Given the description of an element on the screen output the (x, y) to click on. 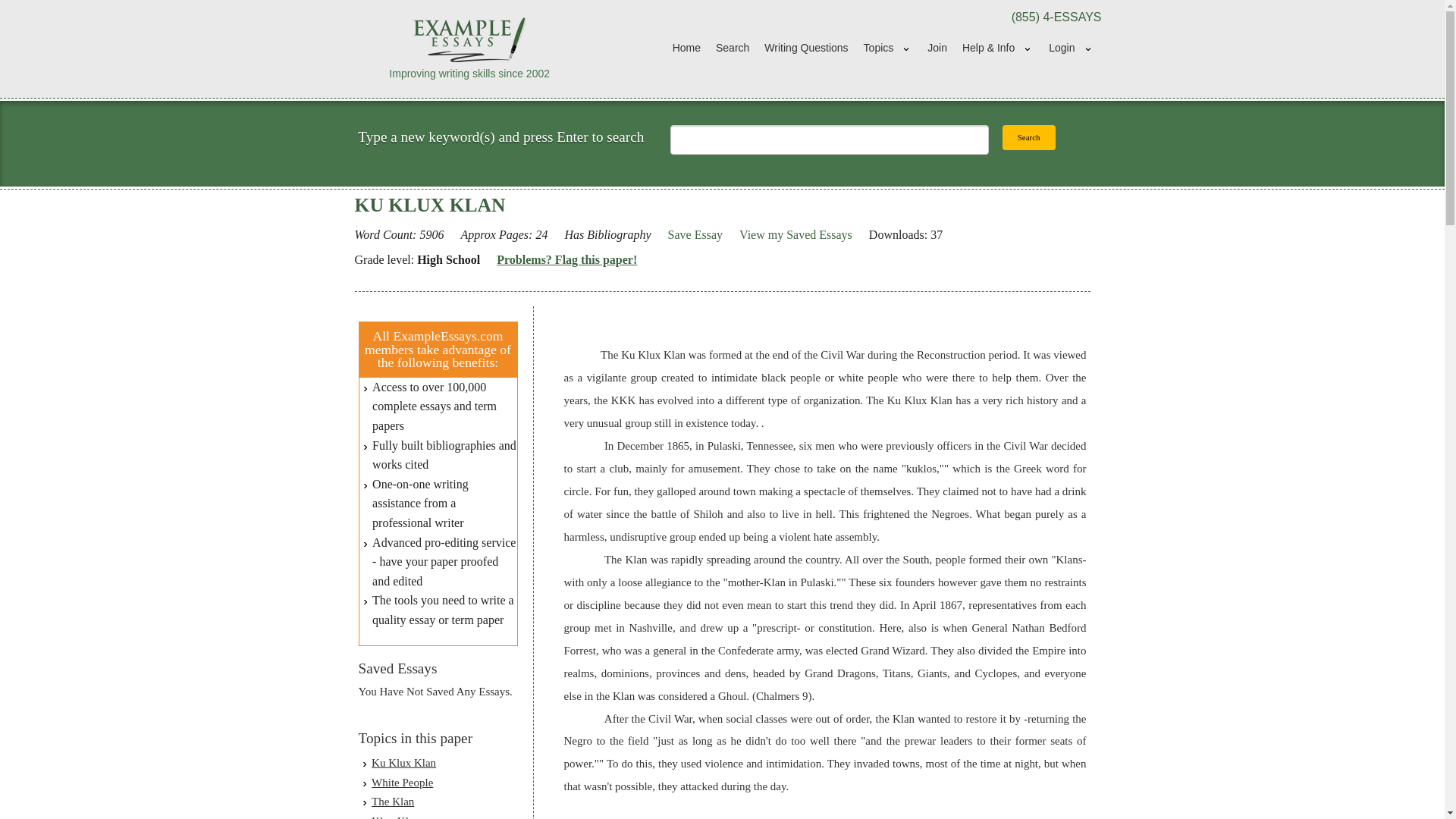
The Klan (392, 801)
Improving writing skills since 2002 (470, 48)
Ku Klux Klan (403, 762)
Home (686, 48)
Problems? Flag this paper! (566, 260)
Klux Klan (395, 816)
Login (1070, 48)
White People (401, 782)
View my Saved Essays (795, 234)
Writing Questions (806, 48)
